Given the description of an element on the screen output the (x, y) to click on. 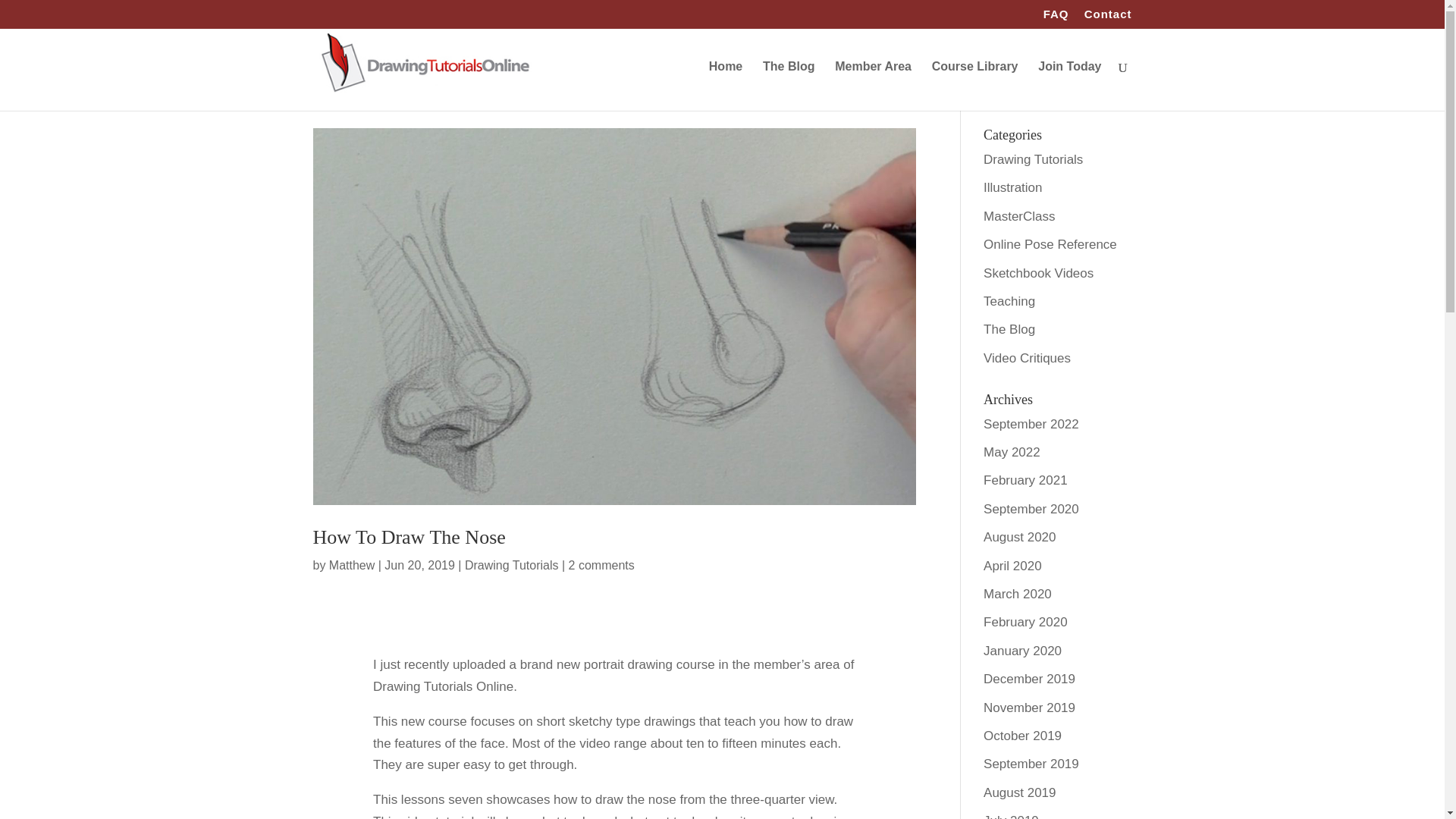
September 2022 (1031, 423)
January 2020 (1022, 650)
Course Library (974, 85)
FAQ (1055, 17)
Drawing Tutorials (1033, 159)
Video Critiques (1027, 358)
August 2020 (1019, 536)
Matthew (351, 564)
May 2022 (1012, 452)
Sketchbook Videos (1038, 273)
April 2020 (1013, 565)
February 2021 (1025, 480)
2 comments (601, 564)
Join Today (1069, 85)
March 2020 (1017, 594)
